Given the description of an element on the screen output the (x, y) to click on. 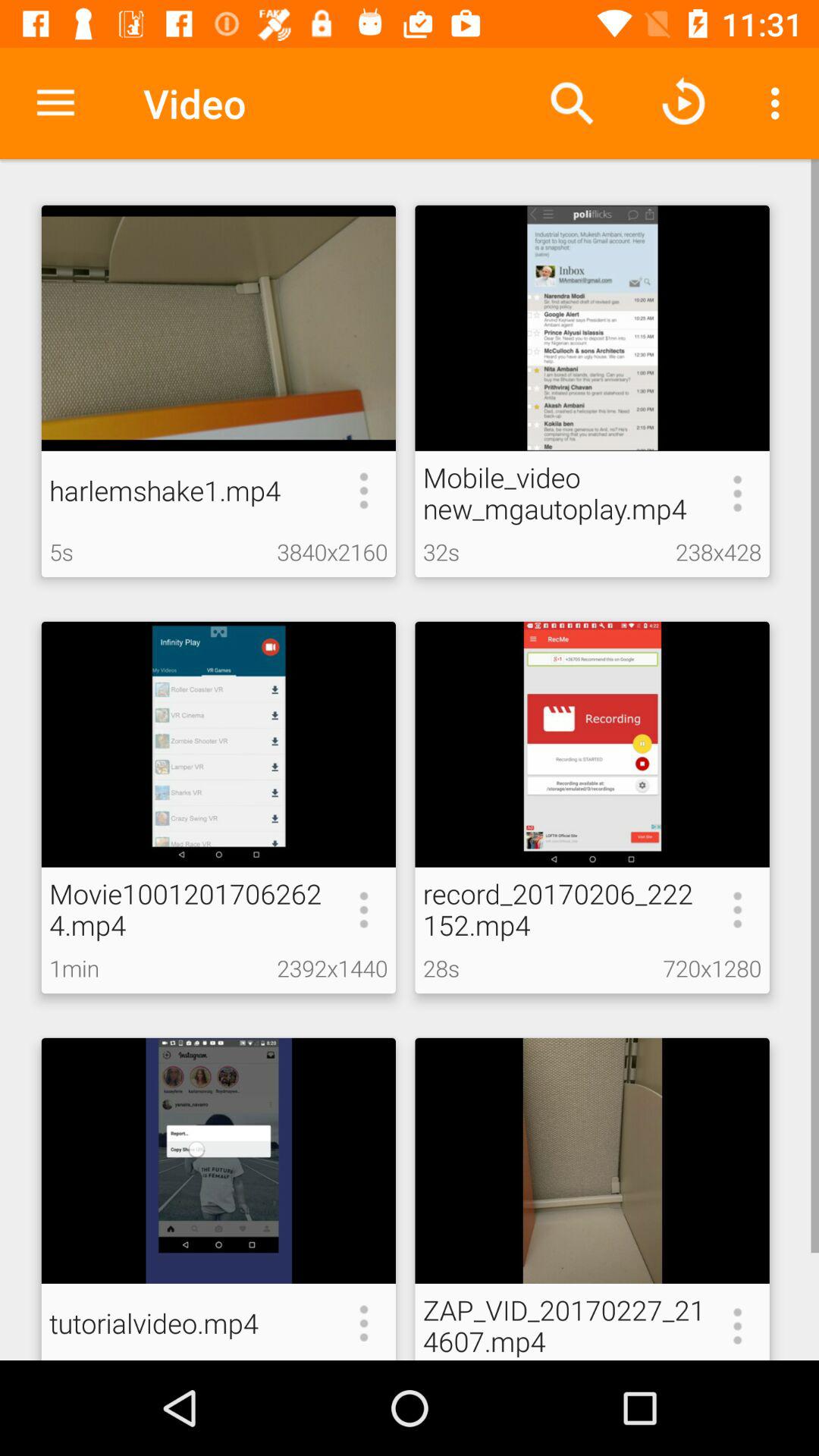
click the item next to the video (55, 103)
